Given the description of an element on the screen output the (x, y) to click on. 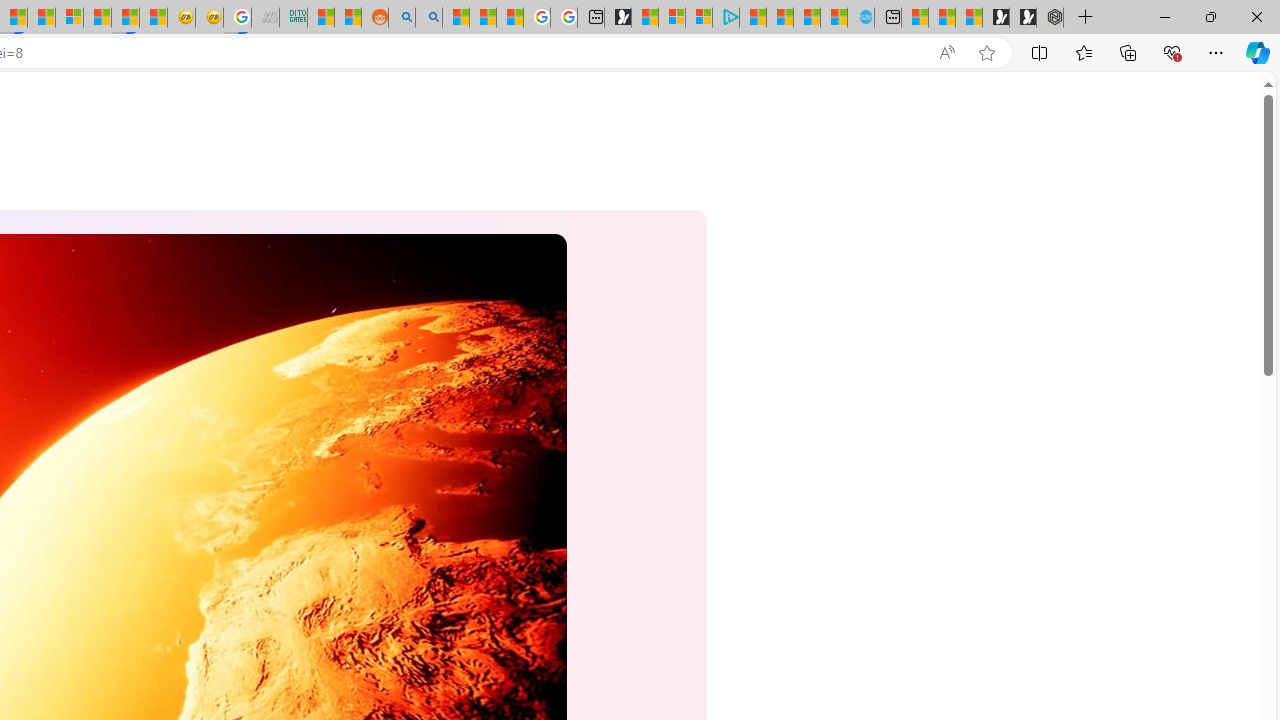
Home | Sky Blue Bikes - Sky Blue Bikes (860, 17)
